Given the description of an element on the screen output the (x, y) to click on. 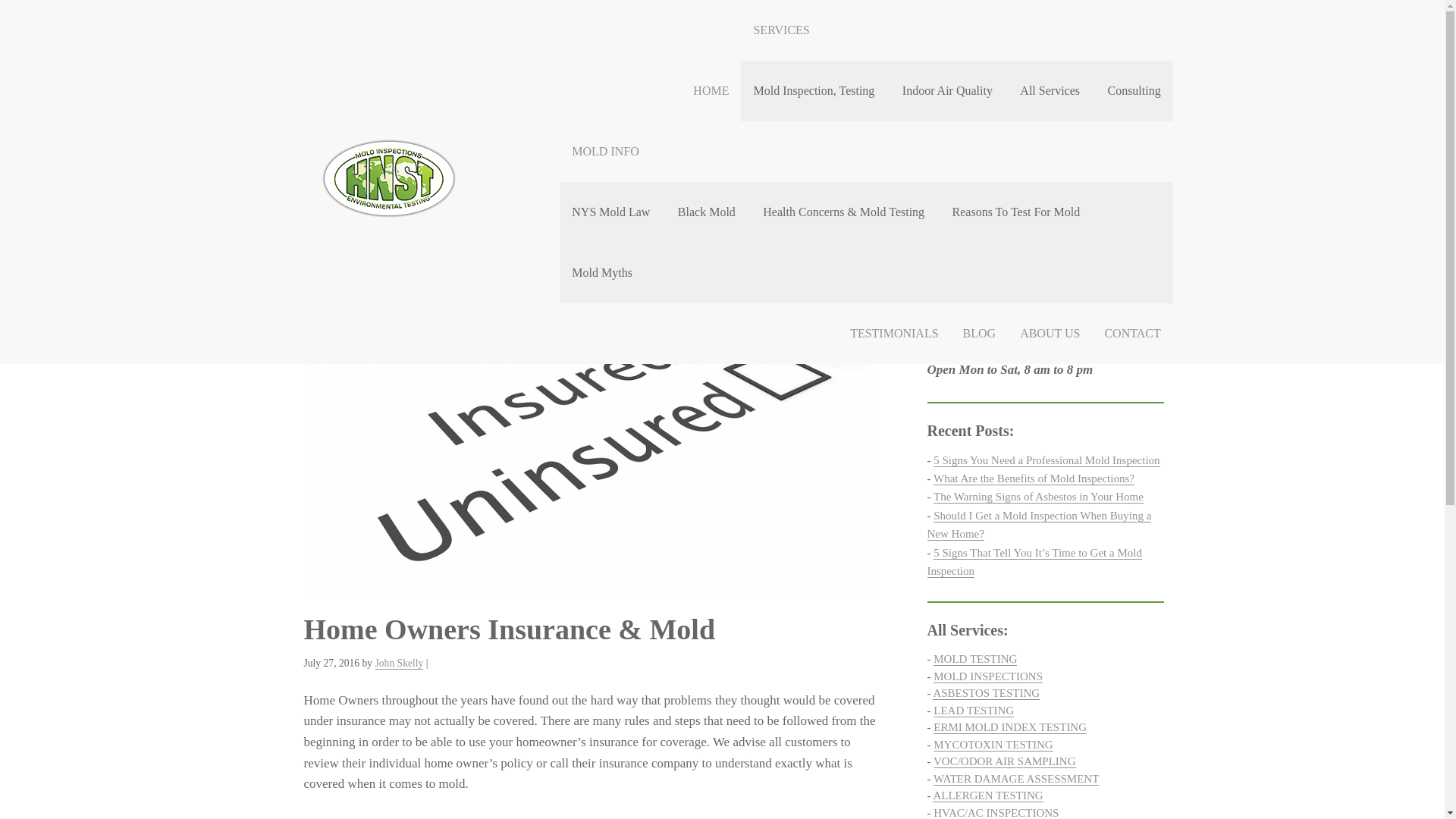
Consulting (1133, 90)
Black Mold (706, 211)
All Services (1049, 90)
MOLD TESTING (974, 658)
MOLD INSPECTIONS (987, 676)
ASBESTOS TESTING (986, 693)
5 Signs You Need a Professional Mold Inspection (1045, 460)
Indoor Air Quality (946, 90)
Should I Get a Mold Inspection When Buying a New Home? (1038, 524)
TESTIMONIALS (894, 333)
Reasons To Test For Mold (1016, 211)
LEAD TESTING (973, 710)
SERVICES (956, 30)
BLOG (979, 333)
Mold Inspection, Testing (813, 90)
